Given the description of an element on the screen output the (x, y) to click on. 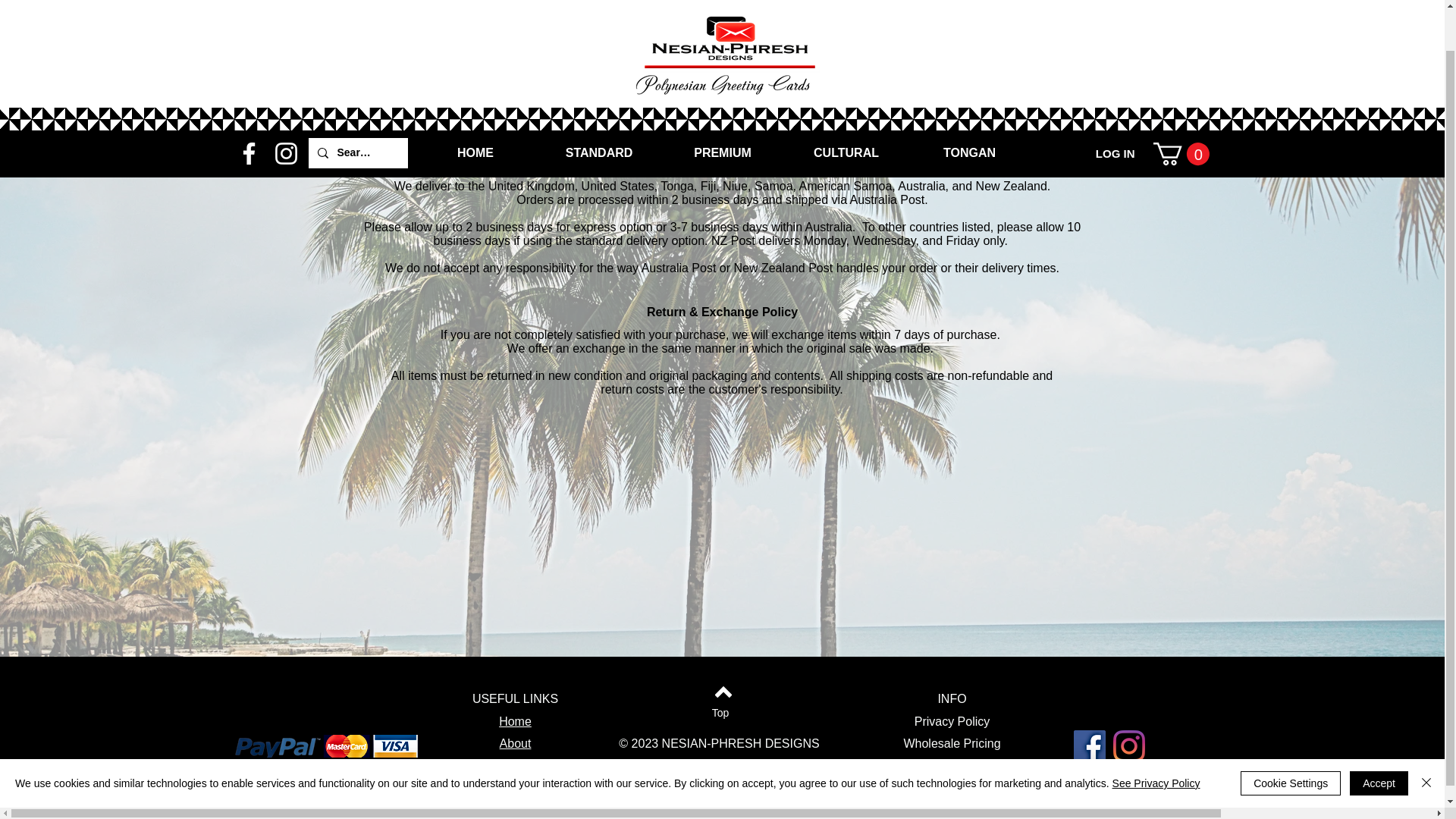
Contact (515, 766)
0 (1180, 109)
See Privacy Policy (1155, 739)
LOG IN (1114, 109)
Top (719, 713)
STANDARD (599, 108)
PREMIUM (721, 108)
Blog (514, 785)
Accept (1378, 739)
0 (1180, 109)
